Given the description of an element on the screen output the (x, y) to click on. 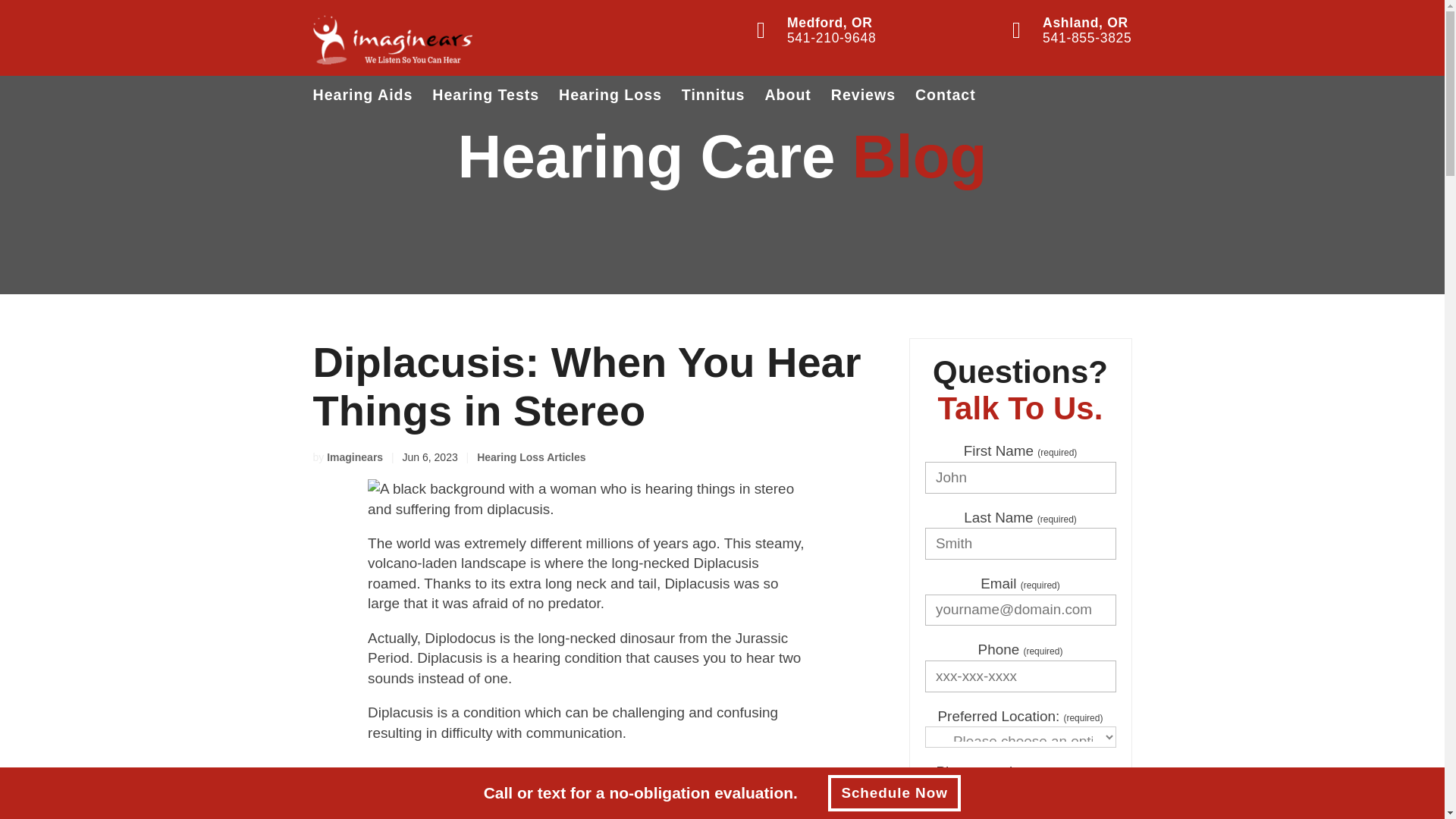
Mobile (1005, 815)
Work (1046, 796)
541-210-9648 (831, 37)
541-855-3825 (1086, 37)
Posts by Imaginears (354, 457)
Home (973, 796)
Ashland, OR (1086, 22)
Medford, OR (831, 22)
Hearing Aids (362, 94)
